Given the description of an element on the screen output the (x, y) to click on. 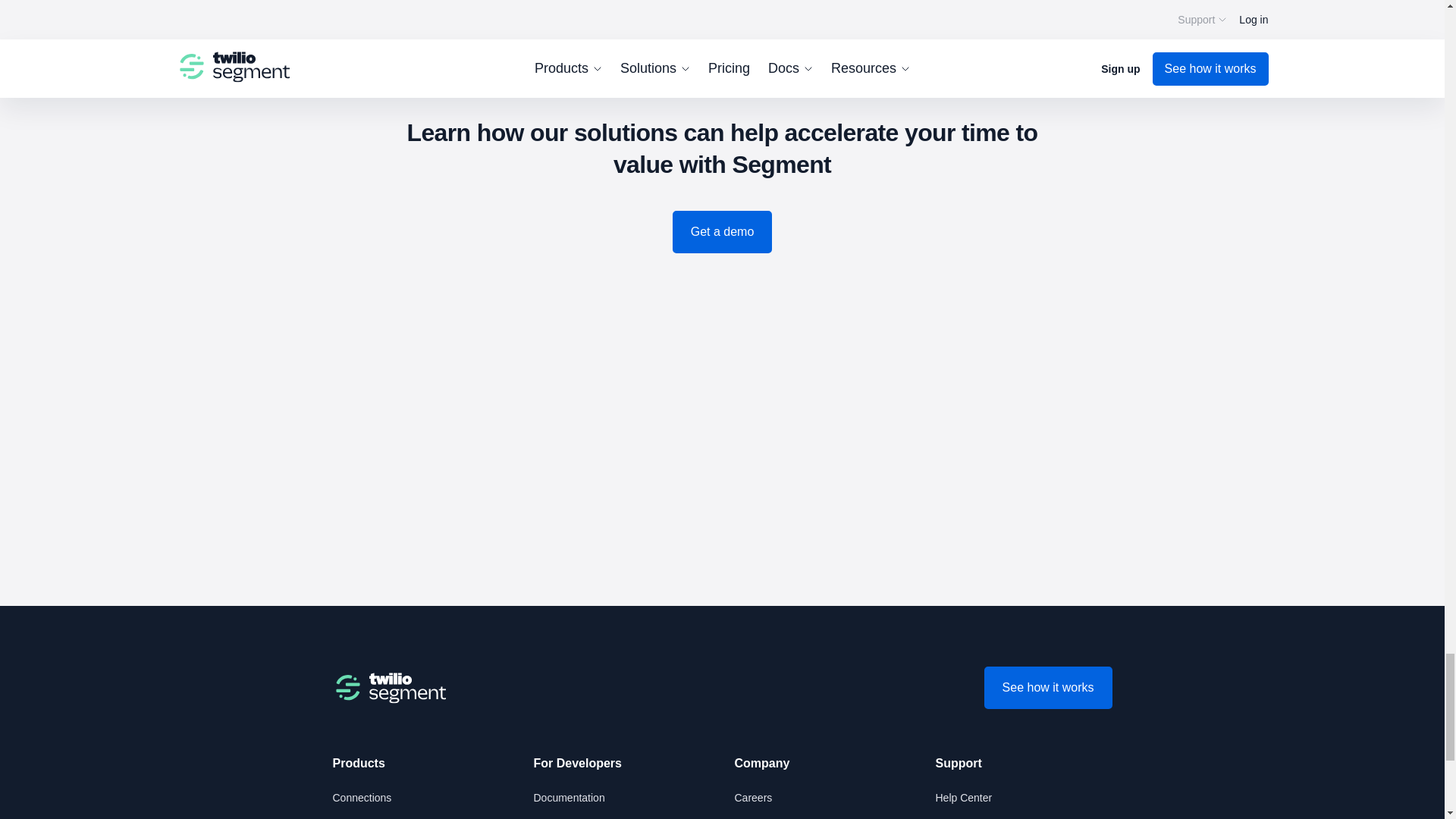
See how it works (1048, 687)
Get a demo (722, 231)
Connections (361, 797)
